Given the description of an element on the screen output the (x, y) to click on. 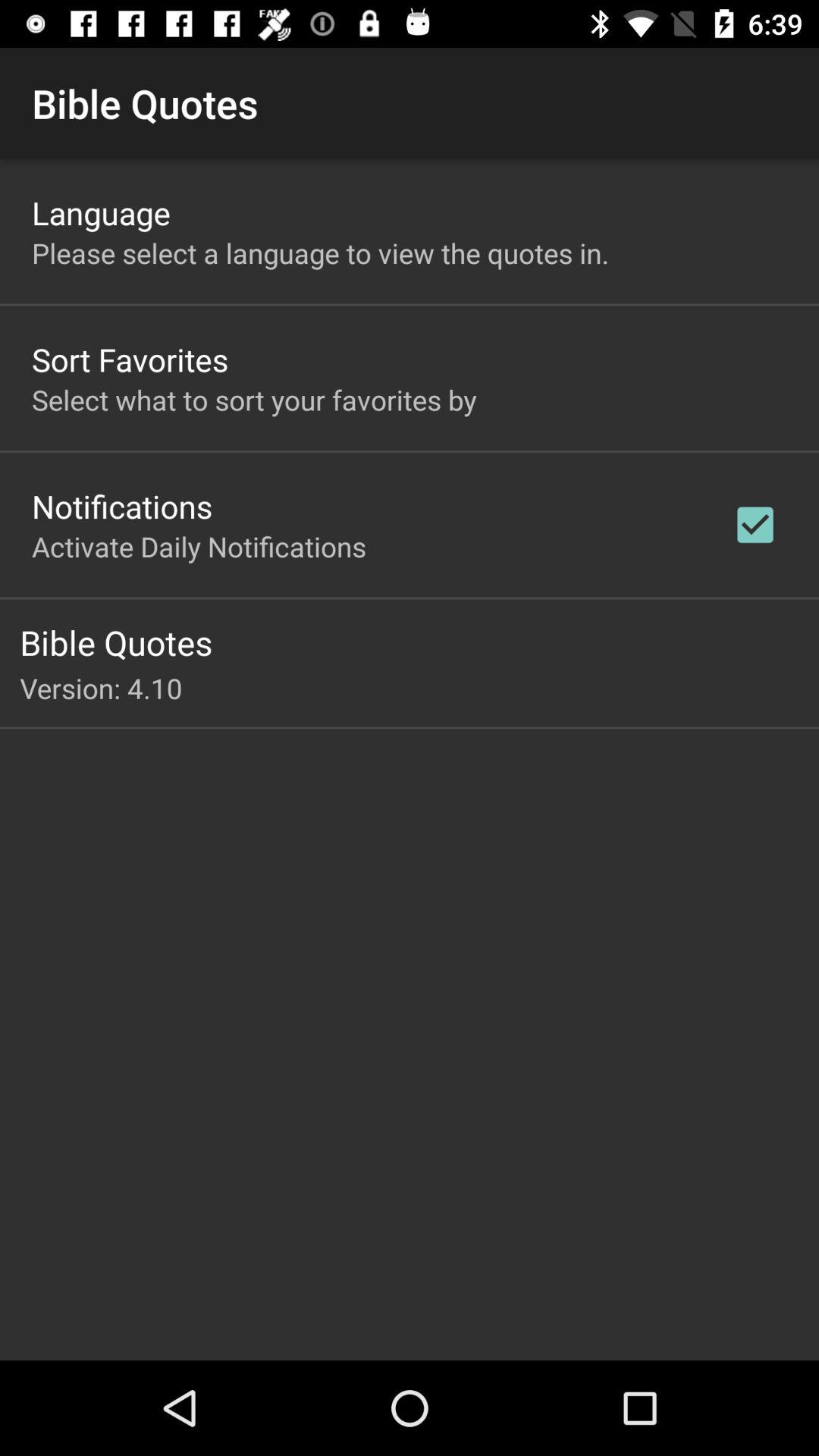
jump to the version: 4.10 (419, 687)
